Given the description of an element on the screen output the (x, y) to click on. 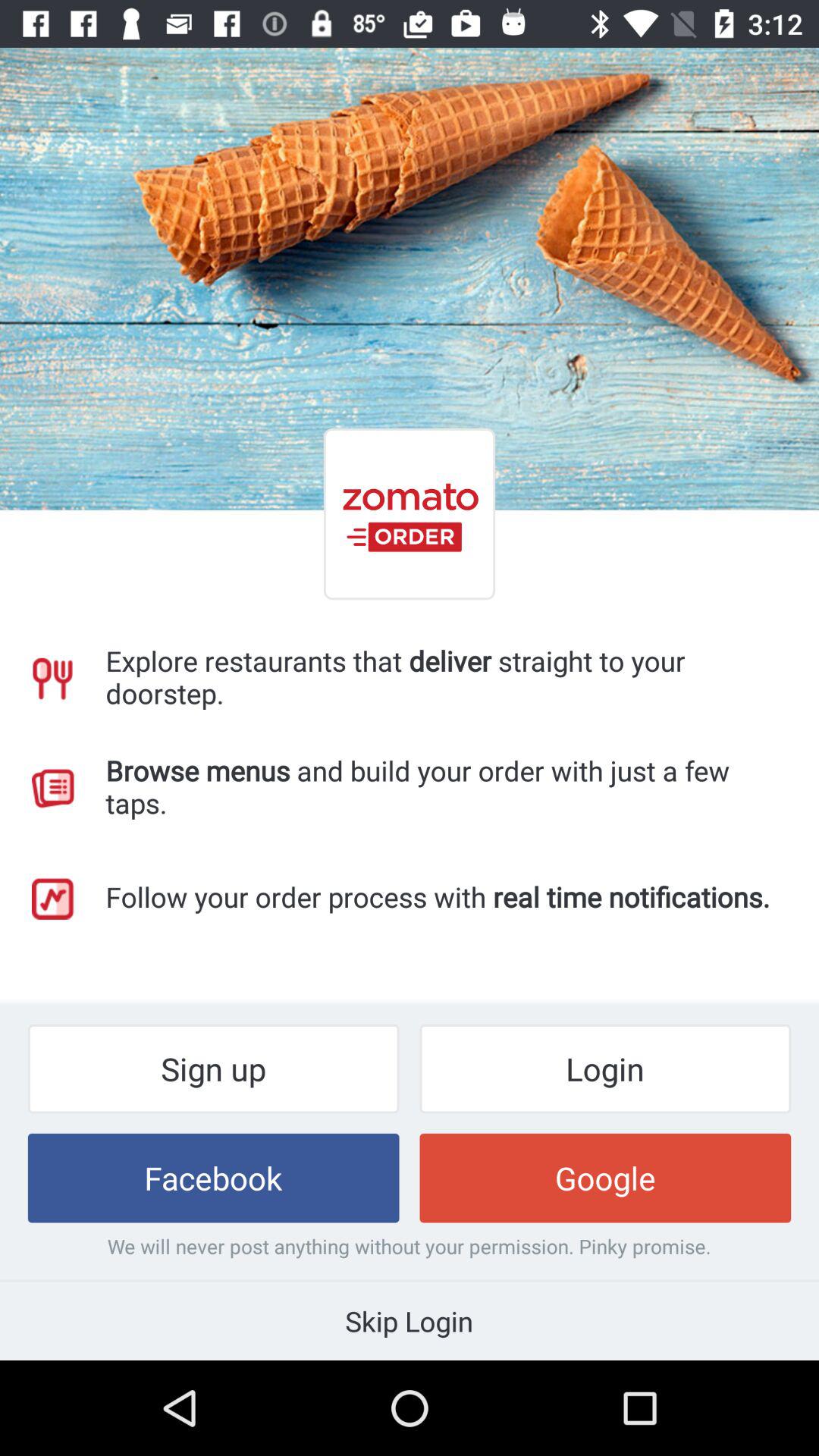
flip until google item (605, 1177)
